Given the description of an element on the screen output the (x, y) to click on. 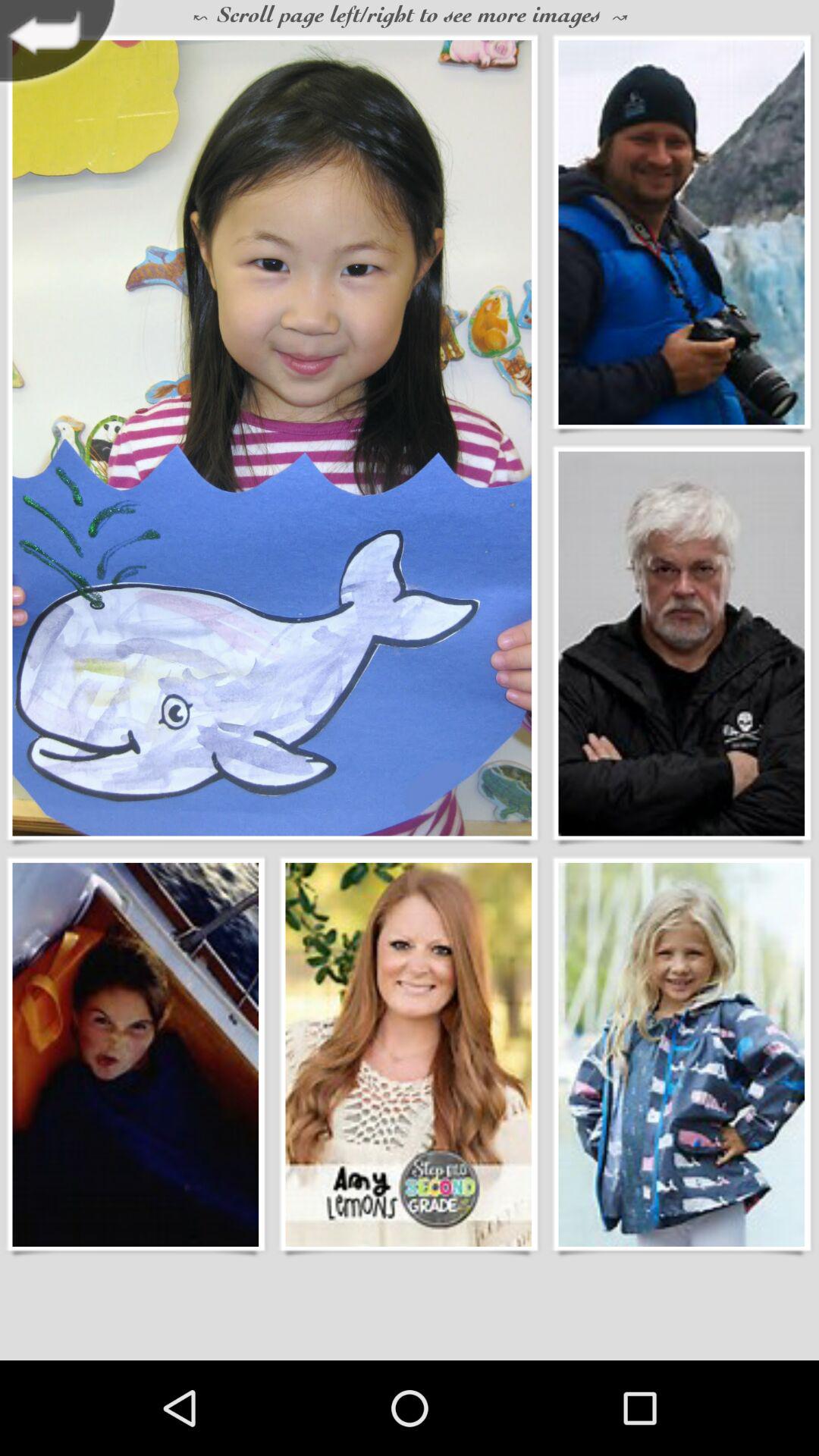
view image (681, 643)
